Given the description of an element on the screen output the (x, y) to click on. 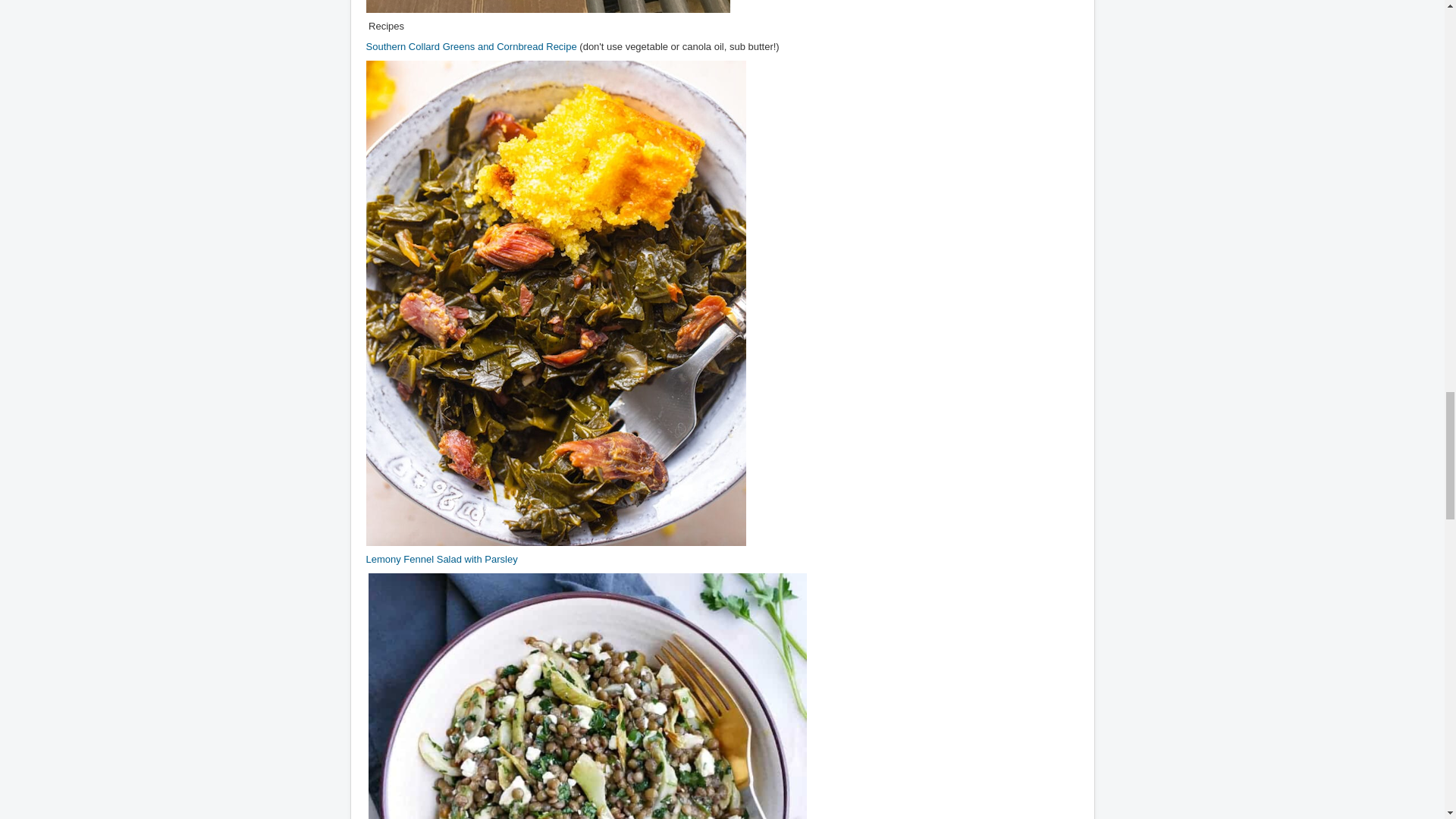
Lemony Fennel Salad with Parsley (440, 559)
Southern Collard Greens and Cornbread Recipe (470, 46)
